Given the description of an element on the screen output the (x, y) to click on. 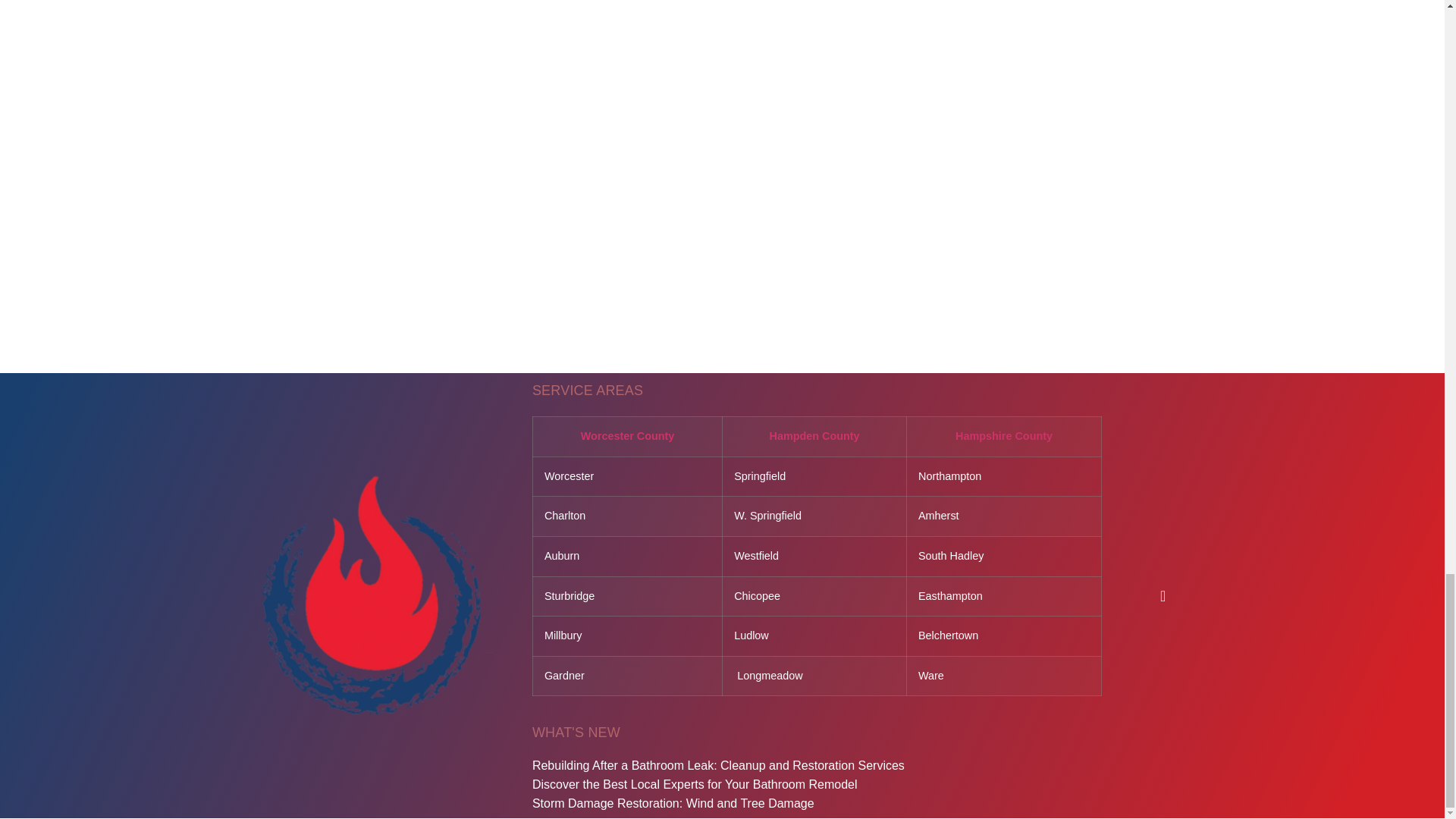
Springfield (759, 476)
Northampton (949, 476)
Hampden County (813, 435)
Worcester (569, 476)
Worcester County (627, 435)
Hampshire County (1003, 435)
Charlton (564, 515)
